Given the description of an element on the screen output the (x, y) to click on. 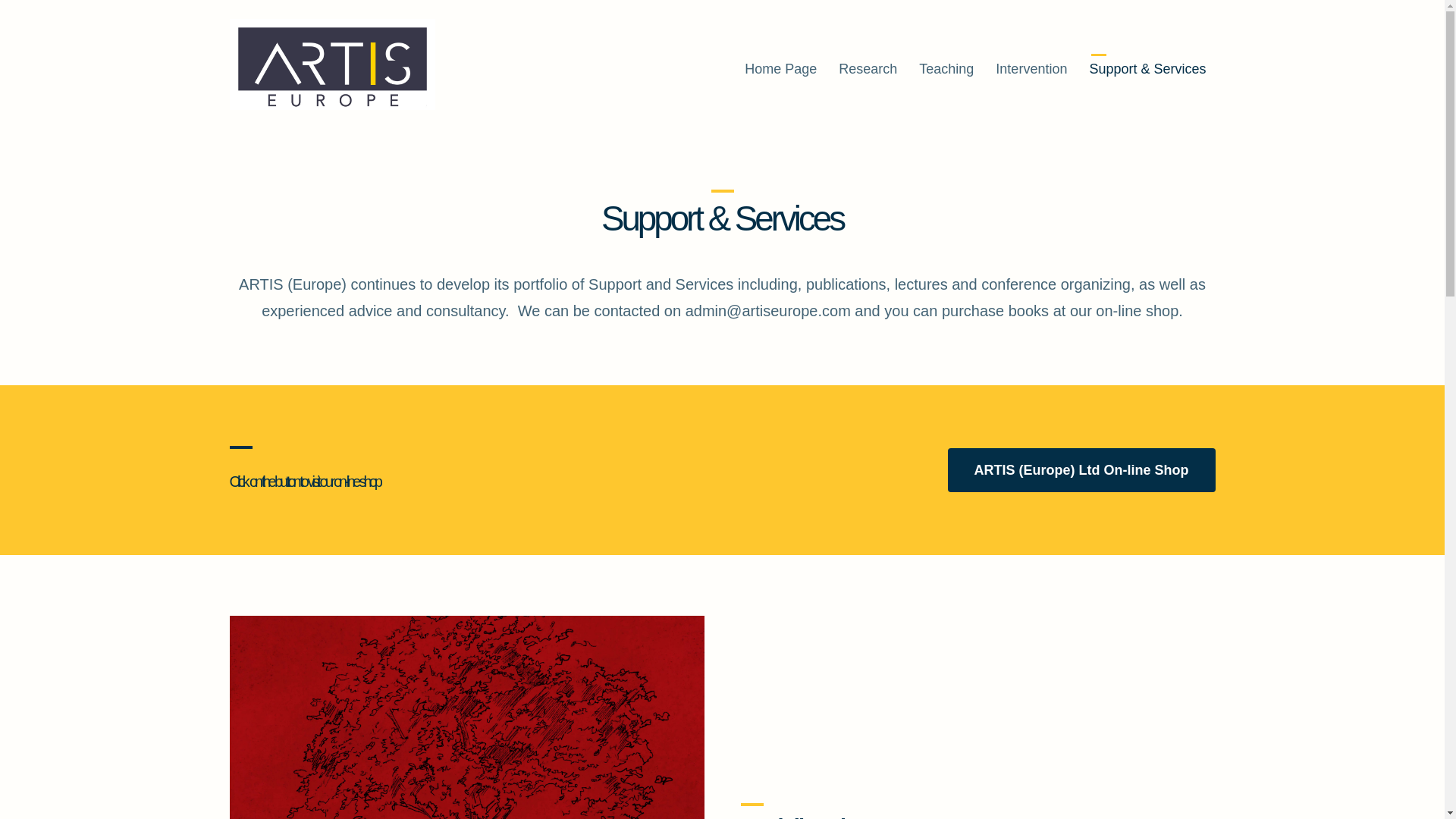
Home Page (780, 68)
Teaching (946, 68)
Research (867, 68)
Intervention (1031, 68)
